Given the description of an element on the screen output the (x, y) to click on. 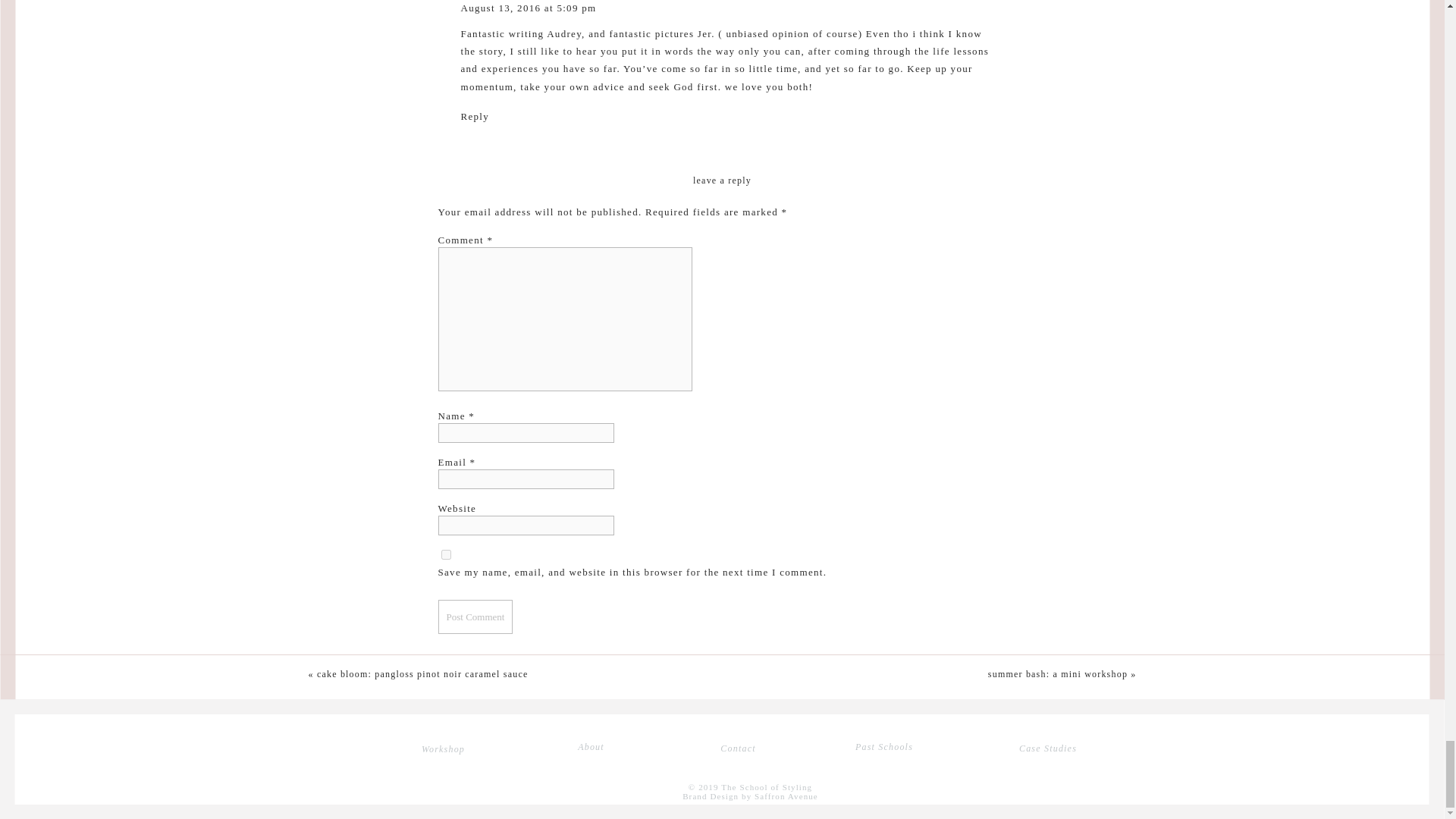
August 13, 2016 at 5:09 pm (528, 7)
Post Comment (475, 616)
cake bloom: pangloss pinot noir caramel sauce (422, 674)
summer bash: a mini workshop (1057, 674)
Workshop (442, 749)
Reply (475, 116)
Post Comment (475, 616)
About (590, 746)
Contact (737, 748)
yes (446, 554)
